Given the description of an element on the screen output the (x, y) to click on. 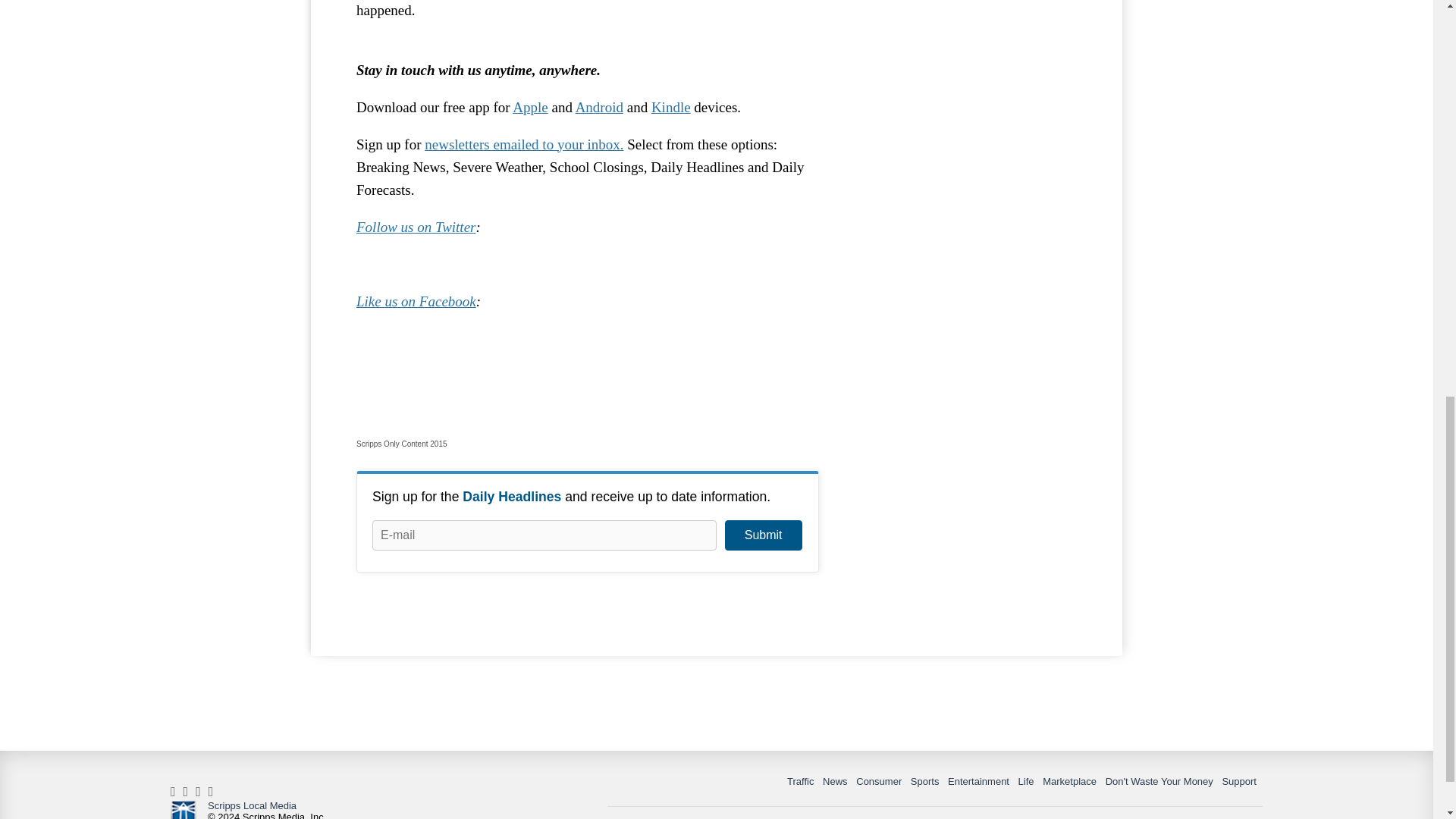
Submit (763, 535)
